Given the description of an element on the screen output the (x, y) to click on. 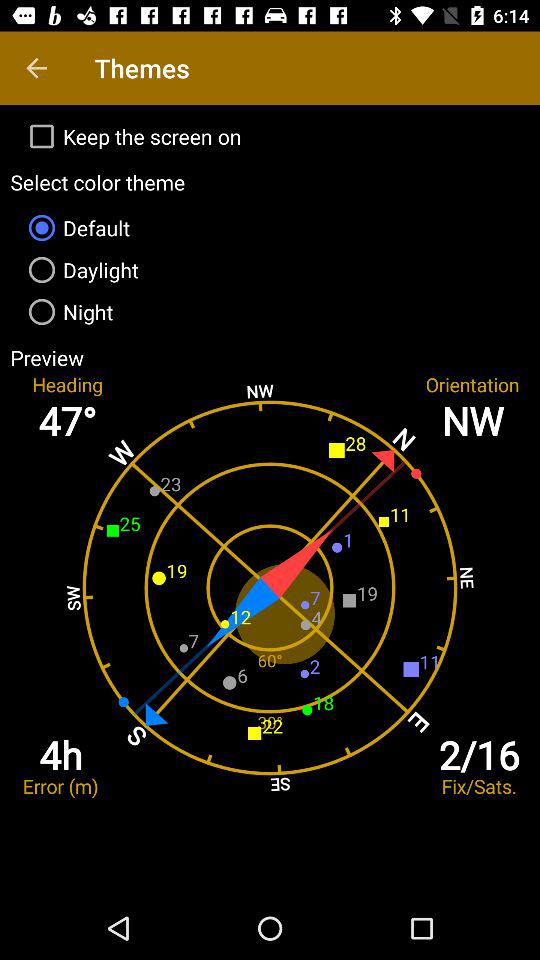
click the keep the screen (270, 136)
